Given the description of an element on the screen output the (x, y) to click on. 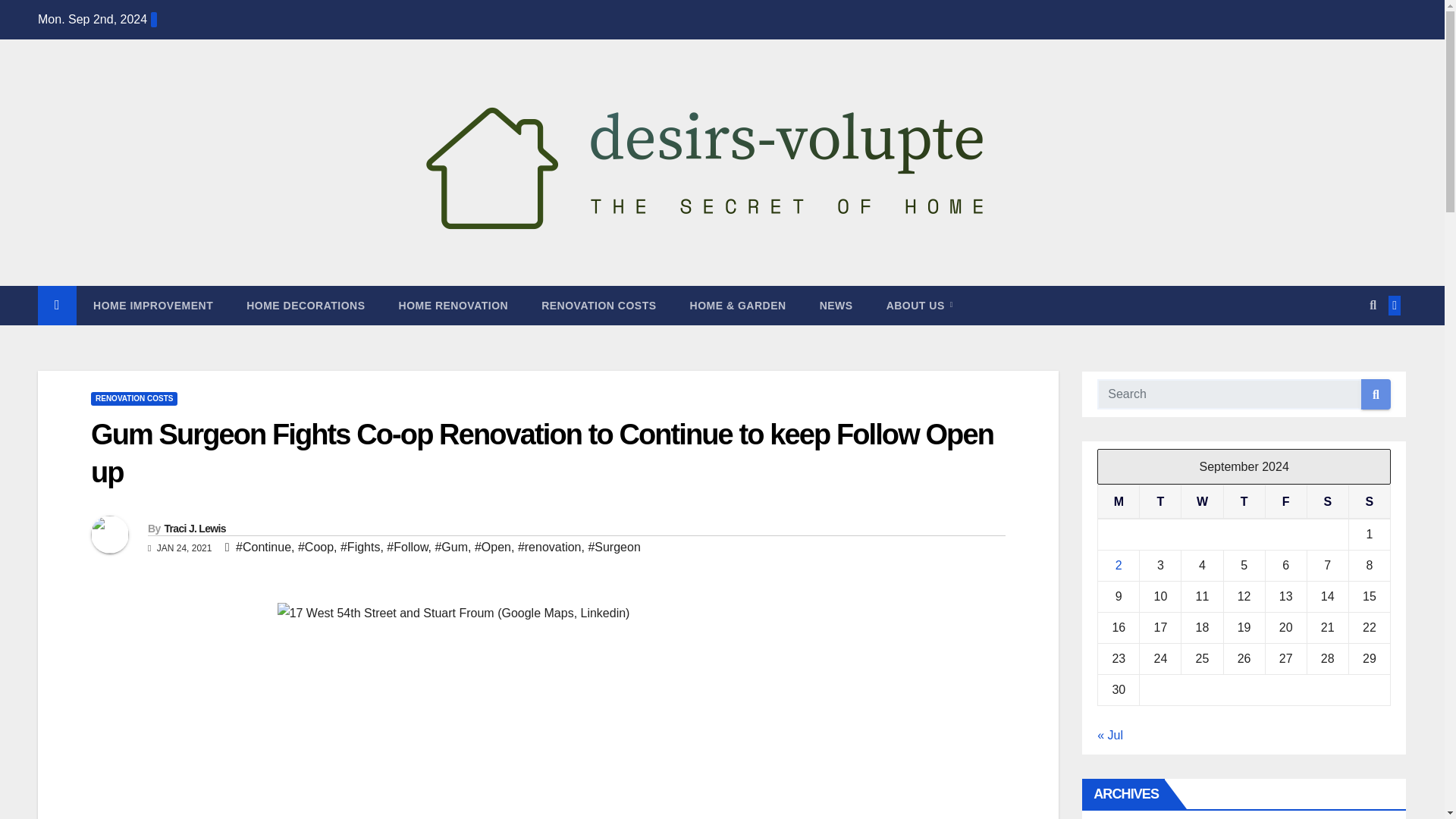
HOME IMPROVEMENT (153, 305)
Traci J. Lewis (194, 528)
RENOVATION COSTS (598, 305)
Home Improvement (153, 305)
HOME DECORATIONS (305, 305)
RENOVATION COSTS (133, 398)
Home Decorations (305, 305)
About Us (919, 305)
renovation costs (598, 305)
